Given the description of an element on the screen output the (x, y) to click on. 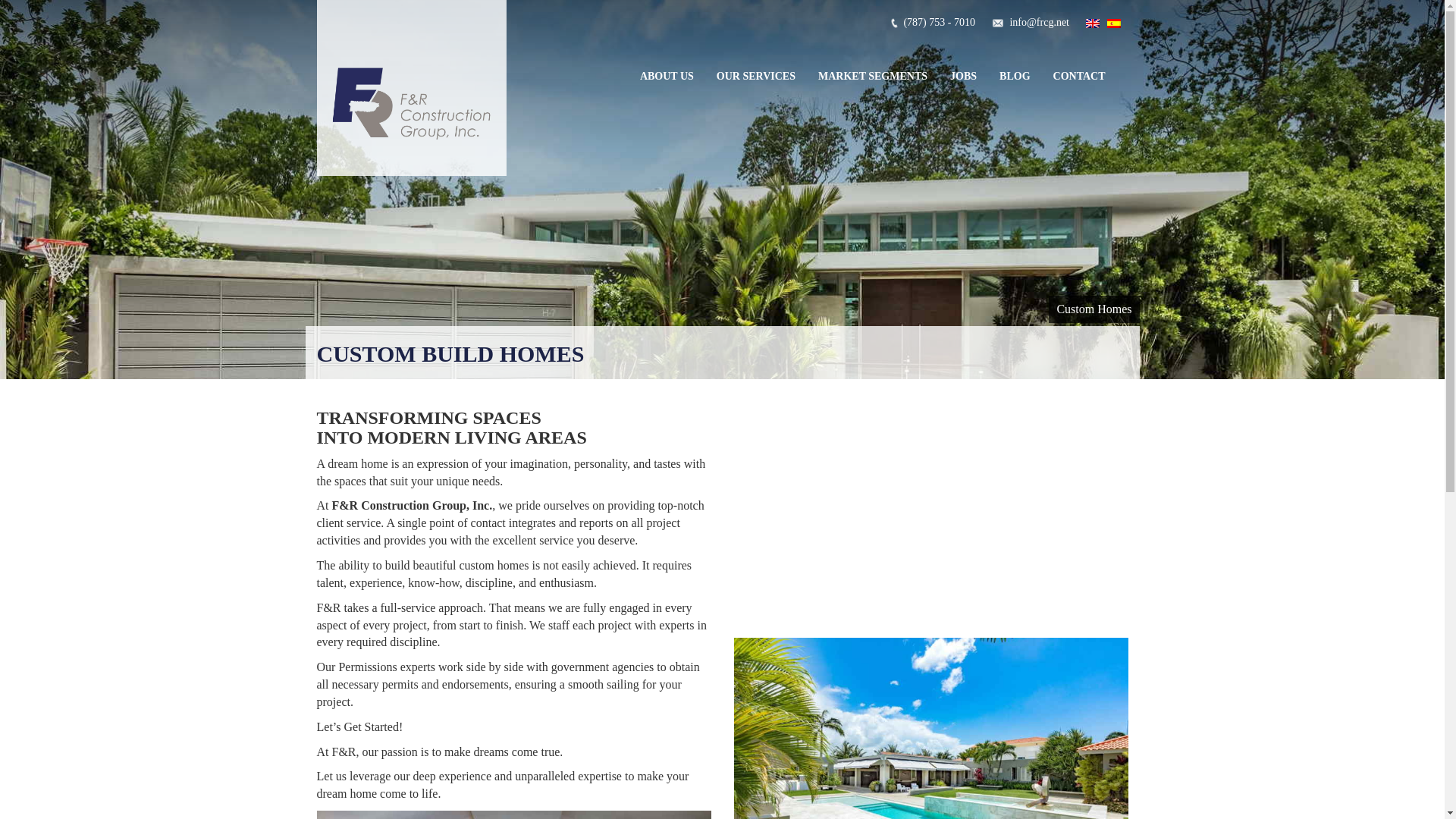
MARKET SEGMENTS (872, 76)
ABOUT US (666, 76)
BLOG (1014, 76)
JOBS (963, 76)
OUR SERVICES (755, 76)
CONTACT (1079, 76)
